Given the description of an element on the screen output the (x, y) to click on. 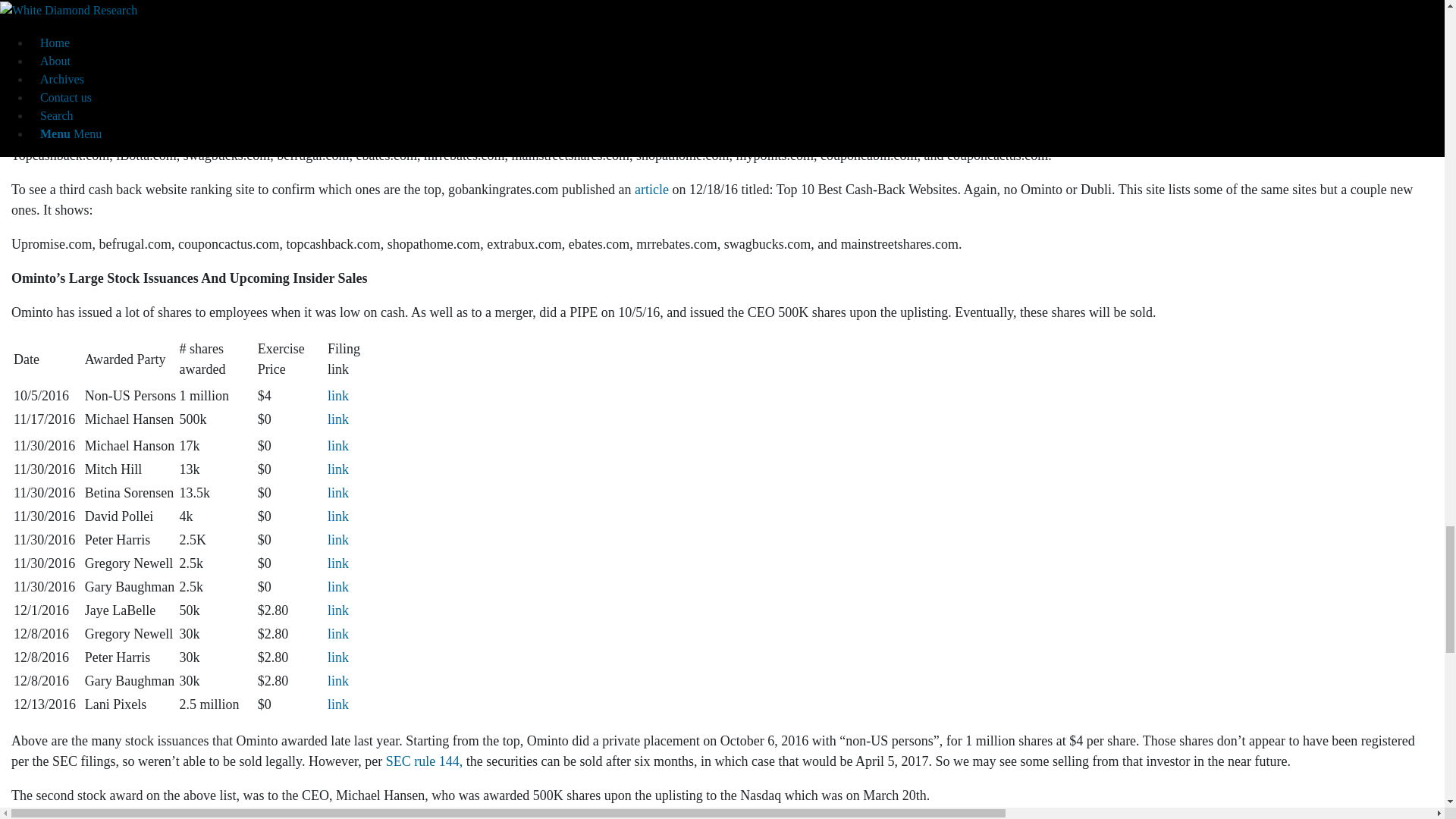
link (338, 680)
link (338, 492)
link (338, 563)
link (338, 445)
article (239, 66)
link (338, 657)
link (338, 586)
link (338, 468)
link (338, 539)
link (338, 610)
